Given the description of an element on the screen output the (x, y) to click on. 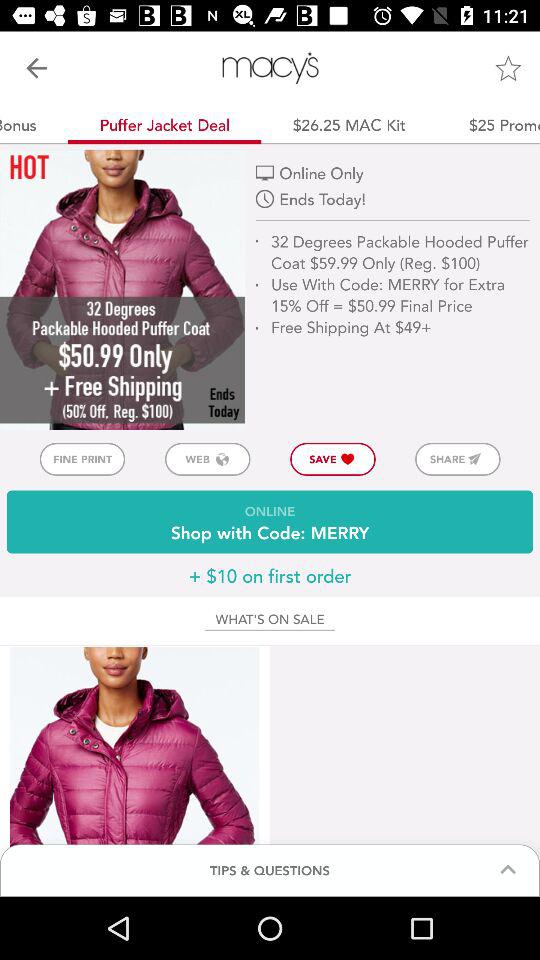
turn off item next to the fine print icon (207, 458)
